Given the description of an element on the screen output the (x, y) to click on. 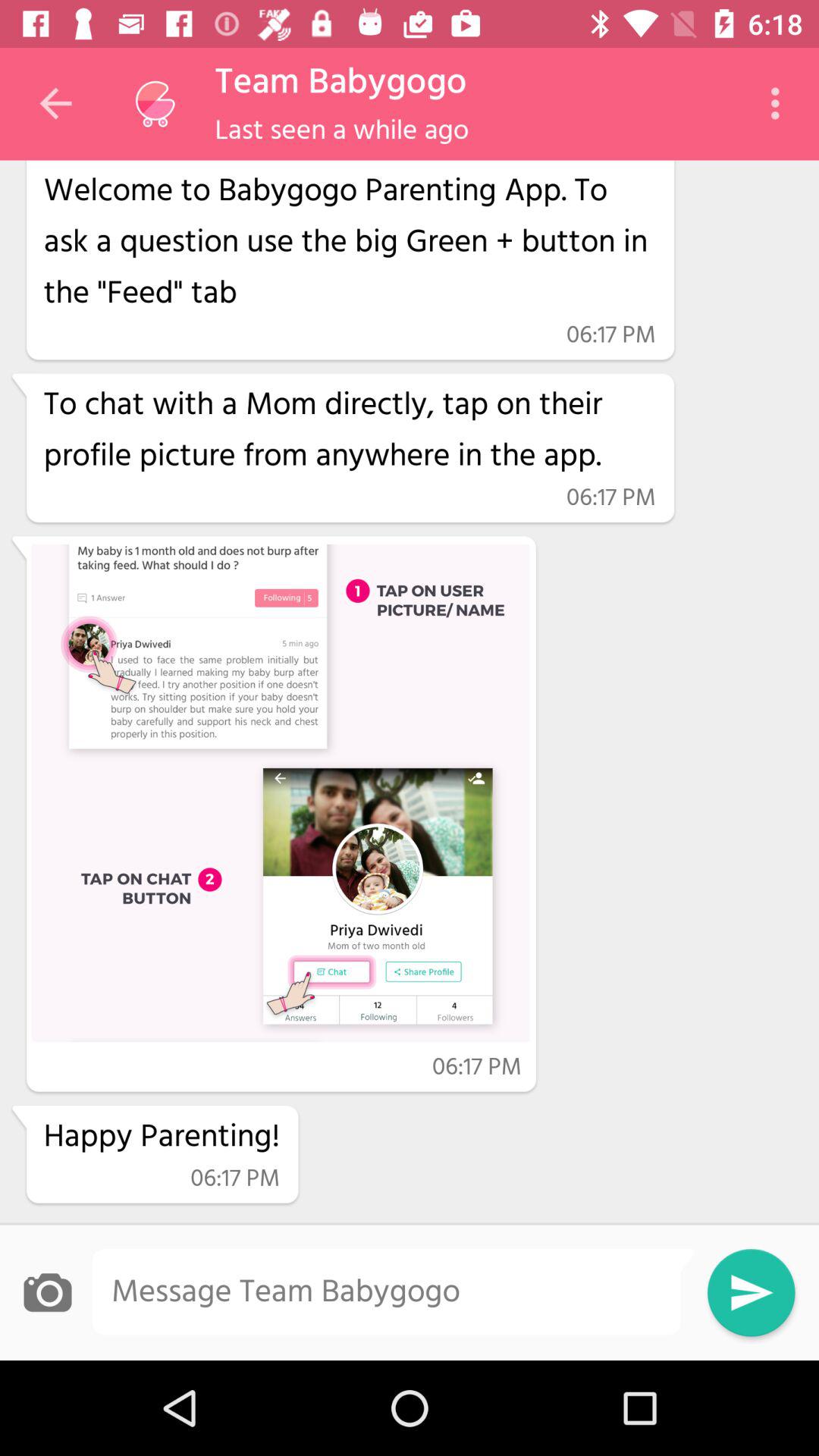
tap item at the bottom right corner (751, 1292)
